Given the description of an element on the screen output the (x, y) to click on. 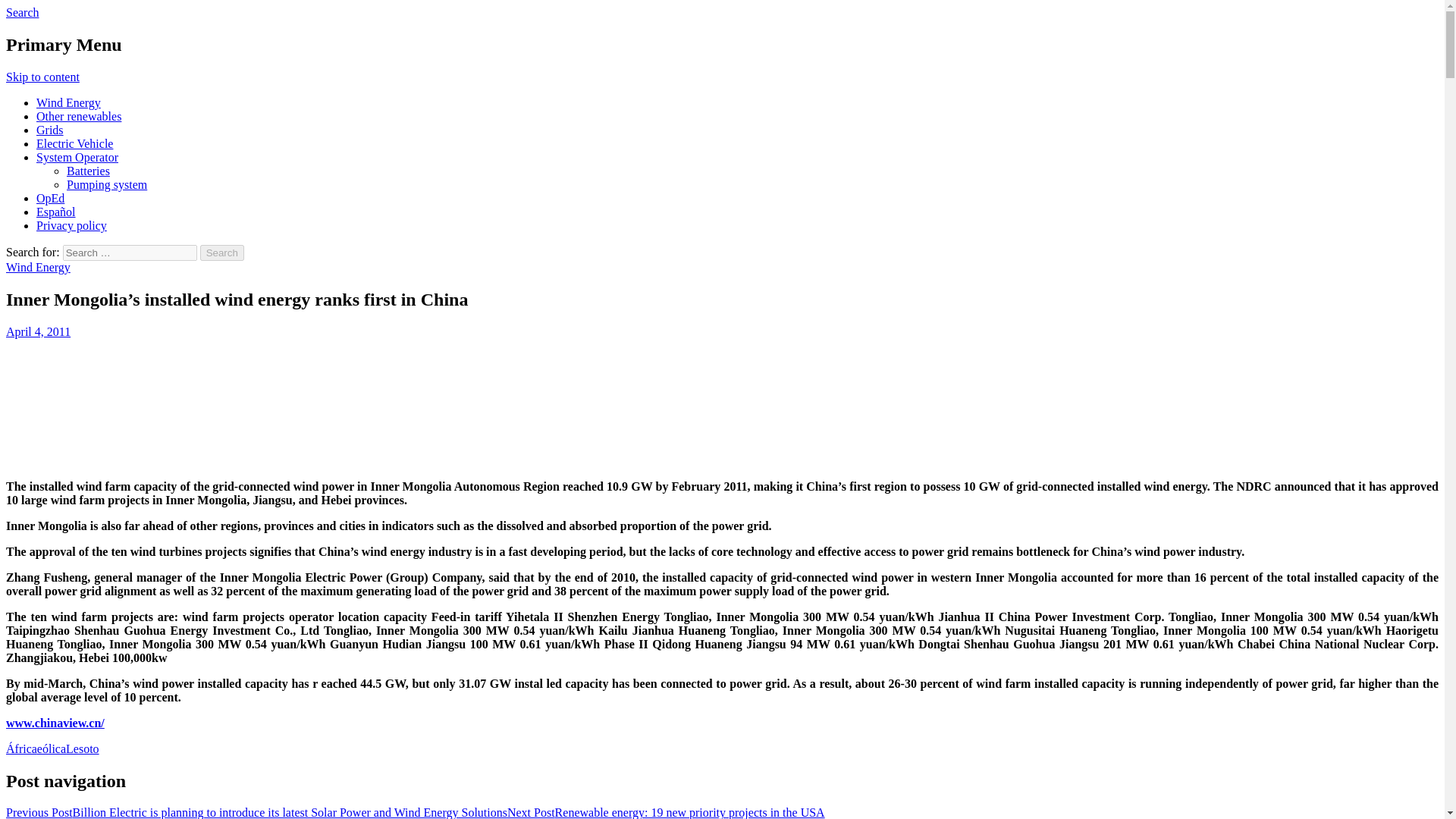
Wind Energy (68, 102)
Grids (50, 129)
Pumping system (106, 184)
Electric Vehicle (74, 143)
Batteries (88, 170)
Search (22, 11)
Wind Energy (37, 267)
April 4, 2011 (37, 331)
OpEd (50, 197)
Other renewables (78, 115)
